Given the description of an element on the screen output the (x, y) to click on. 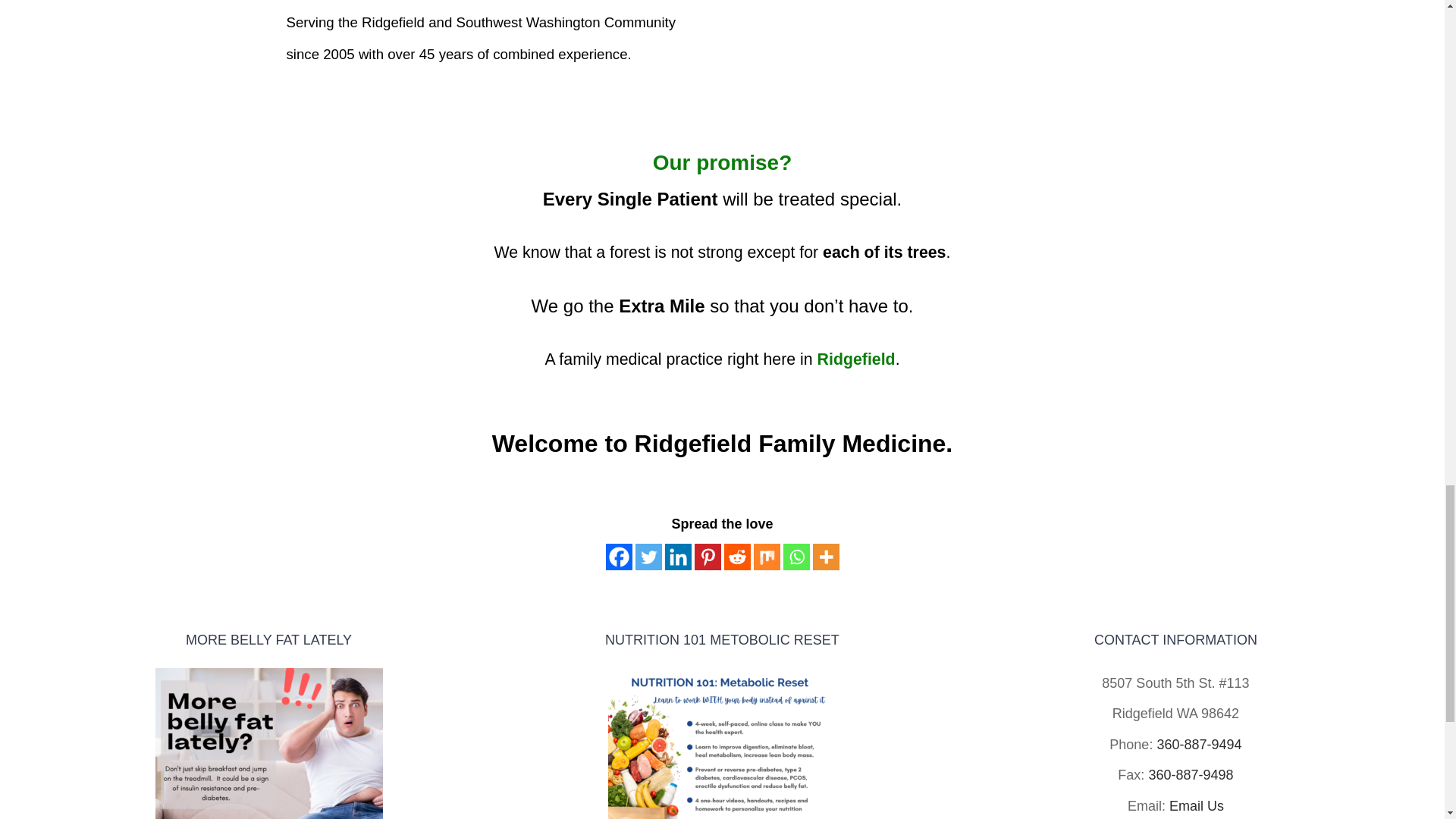
Linkedin (676, 556)
Twitter (648, 556)
360-887-9498 (1190, 774)
Whatsapp (796, 556)
360-887-9494 (1198, 744)
More (826, 556)
Reddit (736, 556)
Facebook (618, 556)
Pinterest (707, 556)
More belly fat lately (268, 743)
